Given the description of an element on the screen output the (x, y) to click on. 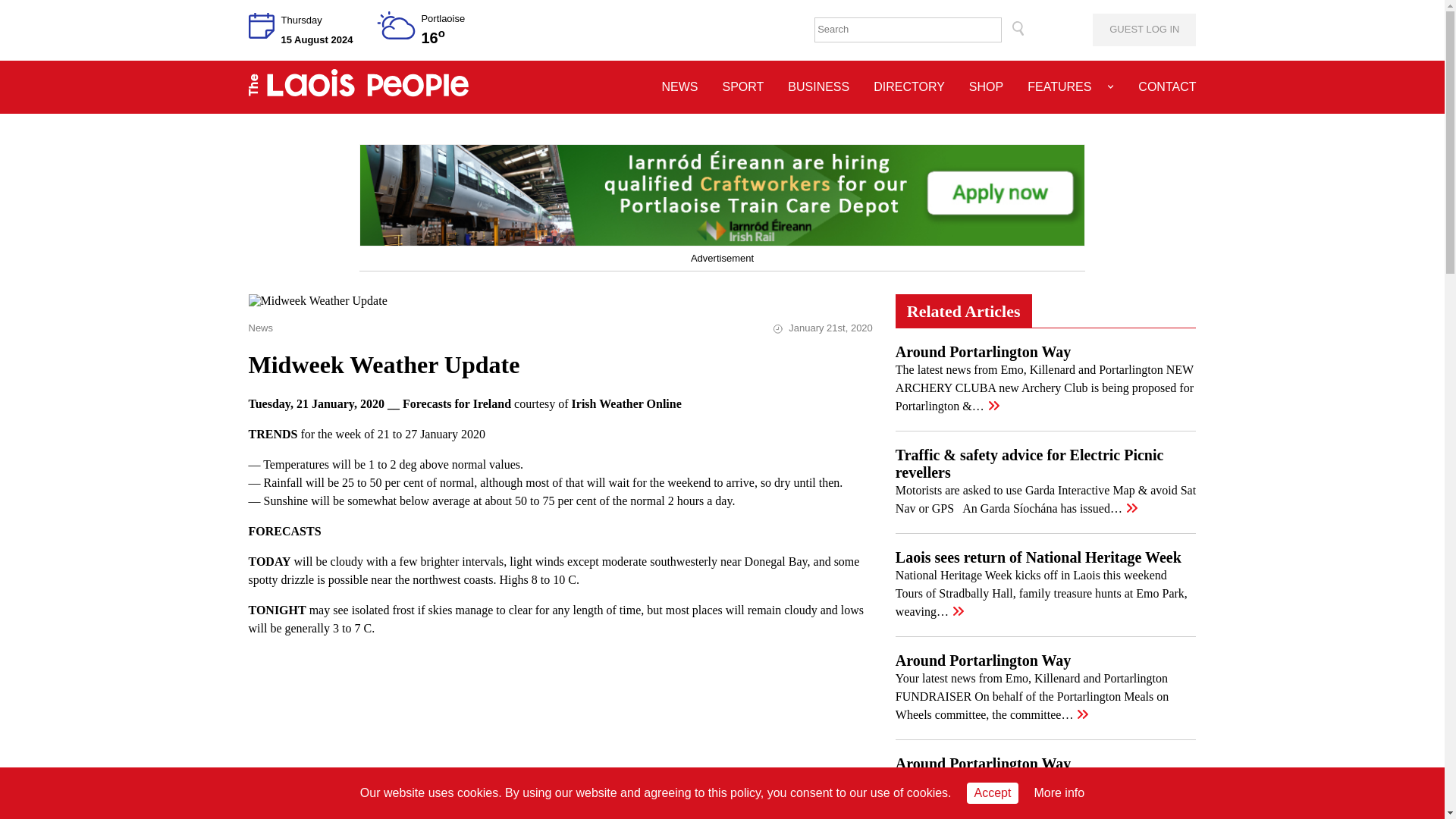
BUSINESS (817, 86)
Around Portarlington Way (983, 351)
SPORT (742, 86)
Around Portarlington Way (983, 763)
Laois sees return of National Heritage Week (1037, 556)
Around Portarlington Way (983, 351)
Around Portarlington Way (983, 660)
NEWS (679, 86)
Around Portarlington Way (983, 763)
Search (1018, 29)
